Given the description of an element on the screen output the (x, y) to click on. 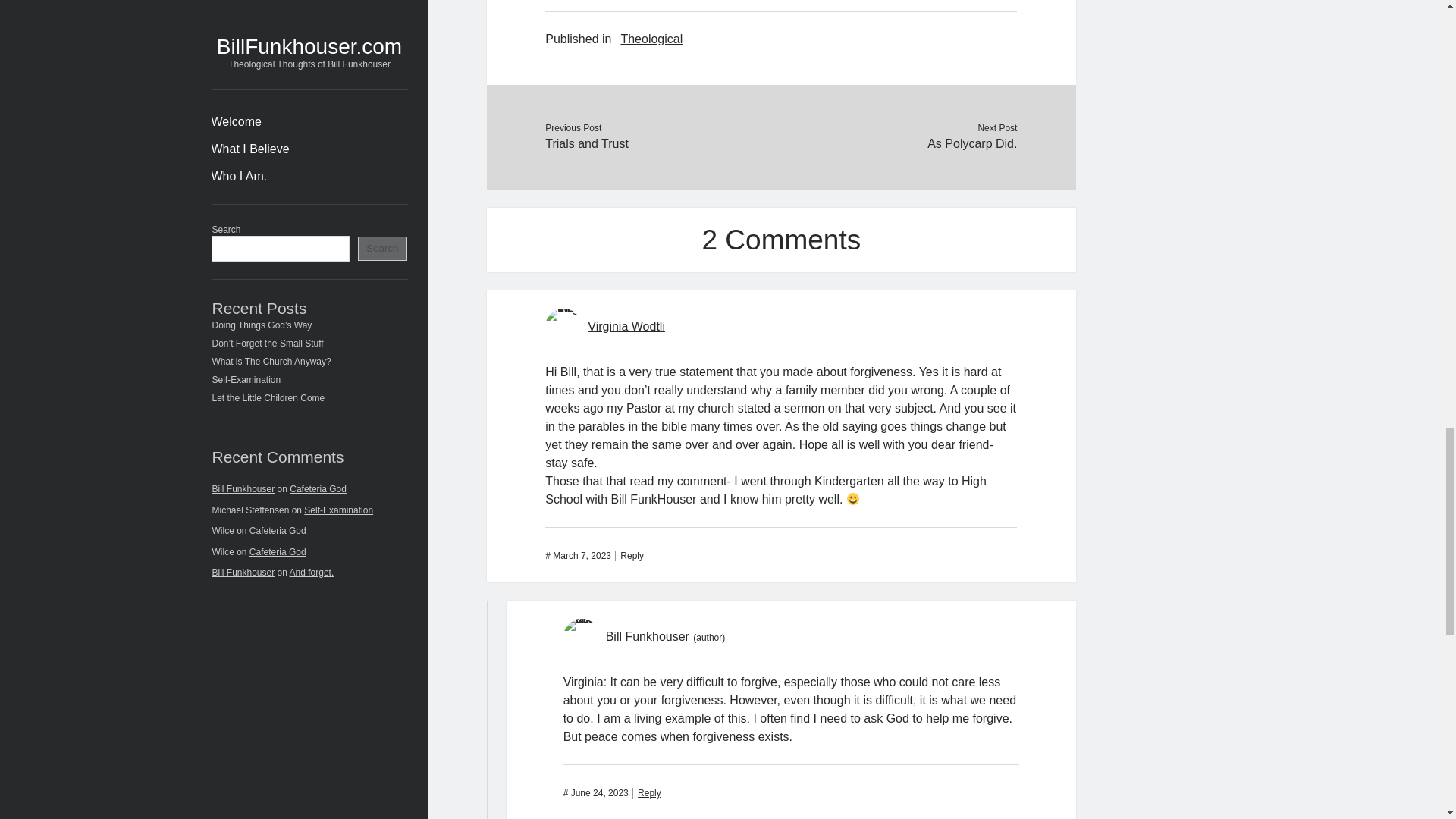
Bill Funkhouser (646, 635)
Reply (646, 792)
As Polycarp Did. (898, 144)
Theological (651, 39)
Trials and Trust (662, 144)
Virginia Wodtli (626, 326)
View all posts in Theological (651, 39)
Reply (628, 555)
